Given the description of an element on the screen output the (x, y) to click on. 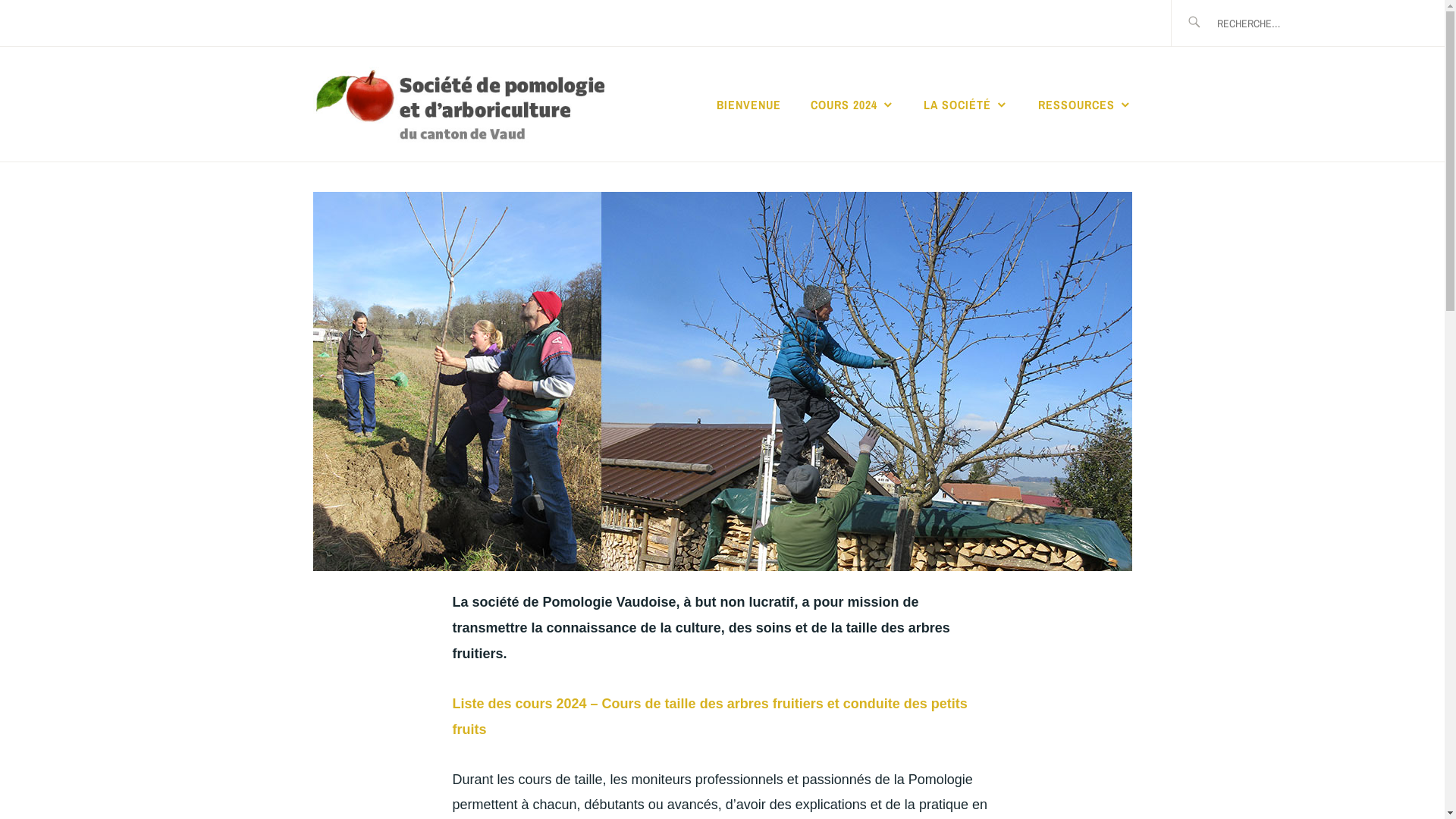
RESSOURCES Element type: text (1084, 104)
COURS 2024 Element type: text (852, 104)
Rechercher Element type: text (65, 21)
BIENVENUE Element type: text (748, 104)
